Given the description of an element on the screen output the (x, y) to click on. 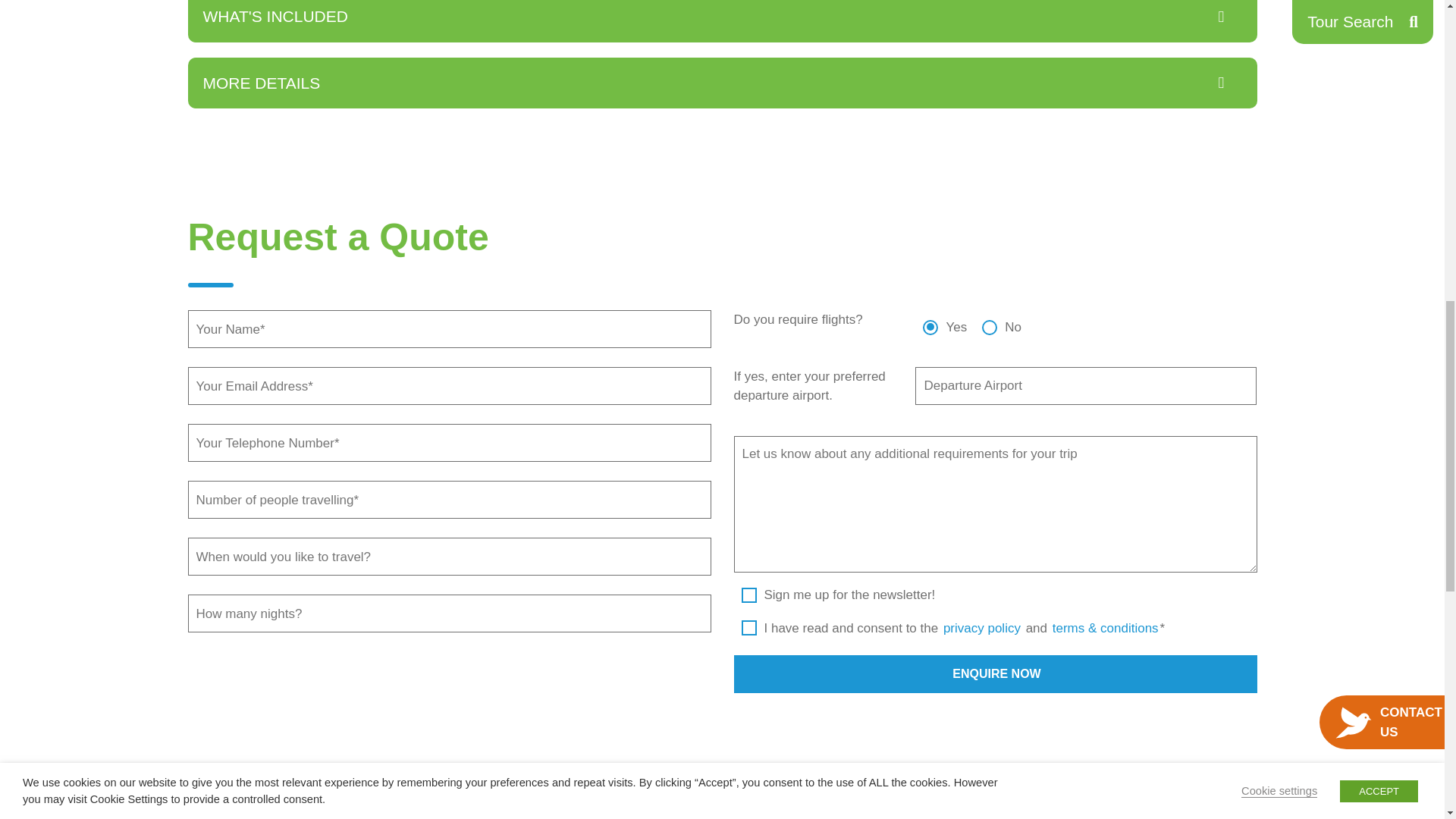
Enquire Now (995, 673)
Yes (930, 317)
No (989, 317)
1 (749, 618)
1 (749, 595)
